Given the description of an element on the screen output the (x, y) to click on. 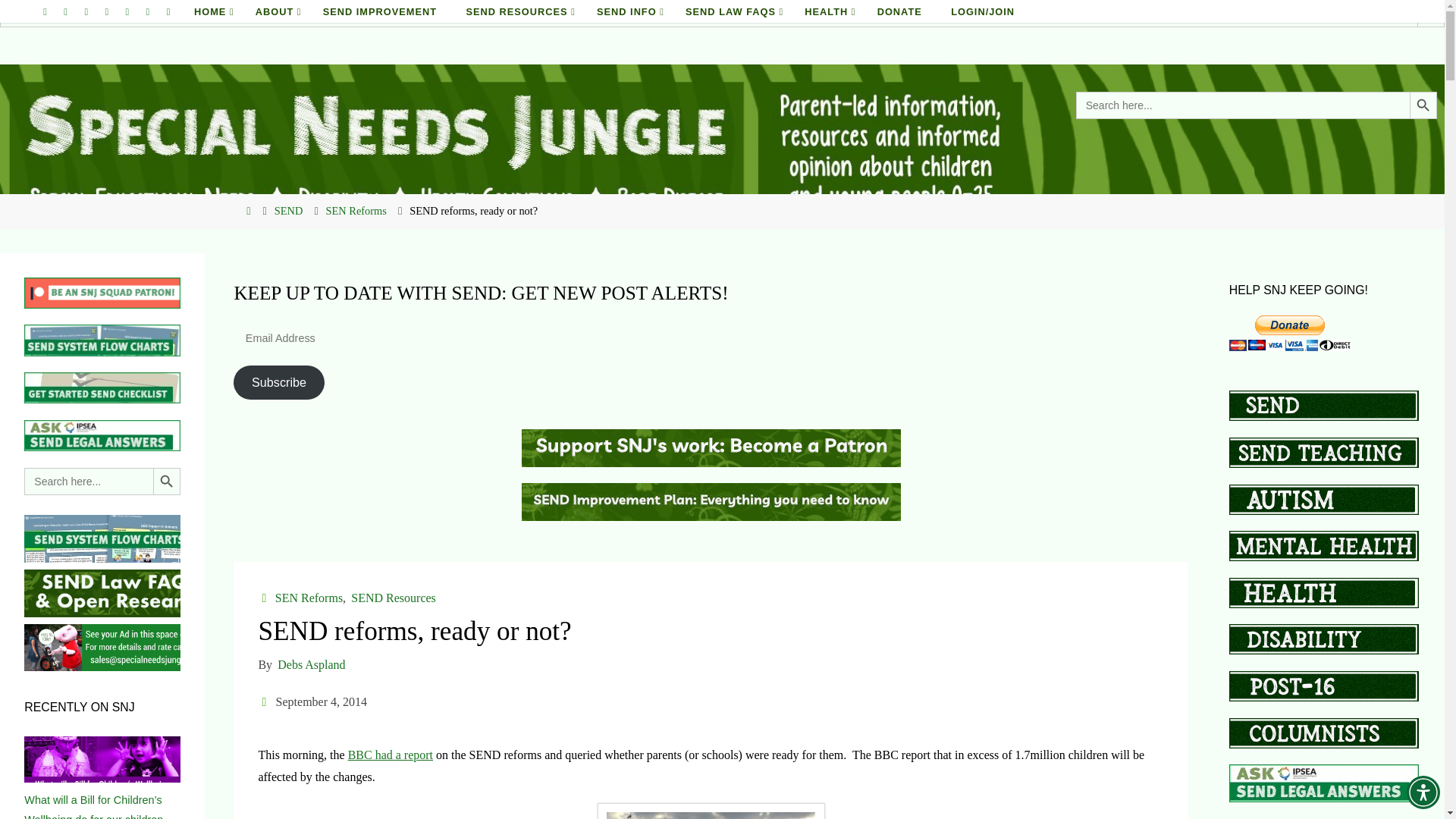
Accessibility Menu (1422, 792)
